Given the description of an element on the screen output the (x, y) to click on. 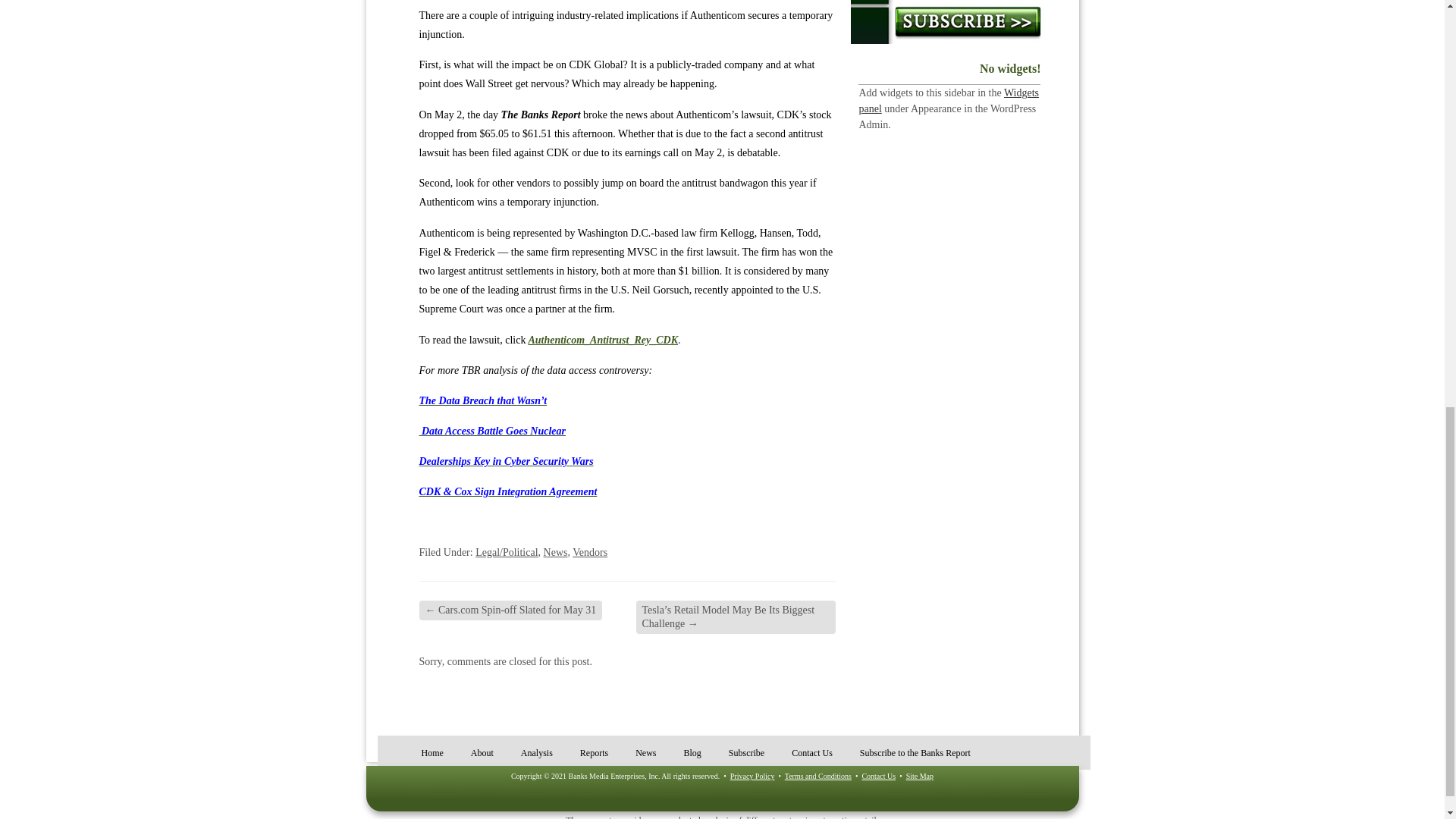
Terms and Conditions (817, 776)
Vendors (589, 552)
Sitemap (919, 776)
Privacy Policy (752, 776)
News (555, 552)
 Data Access Battle Goes Nuclear (492, 430)
Contact Us (878, 776)
Dealerships Key in Cyber Security Wars (505, 460)
